Given the description of an element on the screen output the (x, y) to click on. 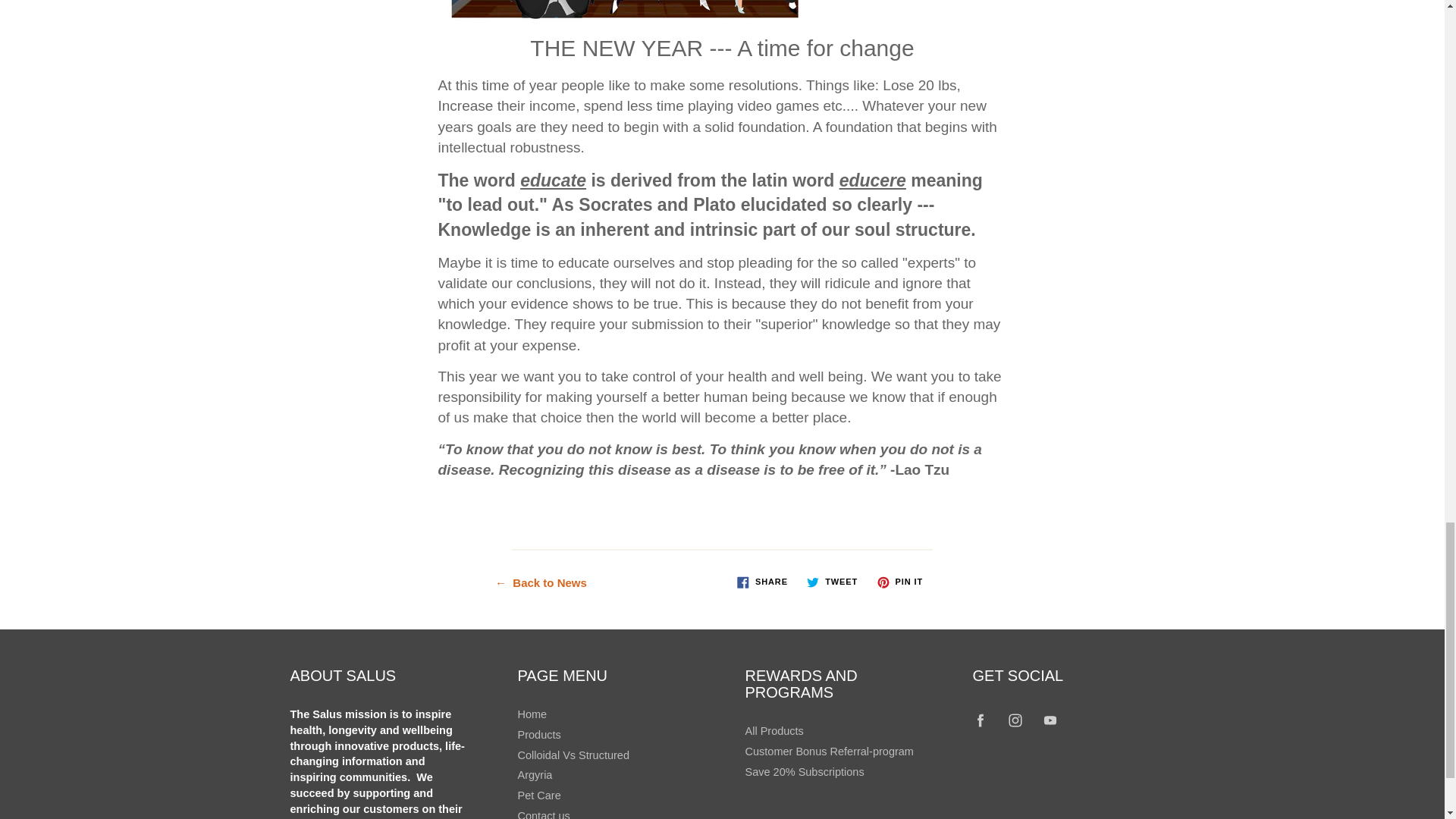
Facebook (981, 719)
Instagram (1016, 719)
Share on Facebook (761, 582)
Tweet on Twitter (831, 582)
YouTube (1050, 719)
Pin on Pinterest (899, 582)
